Given the description of an element on the screen output the (x, y) to click on. 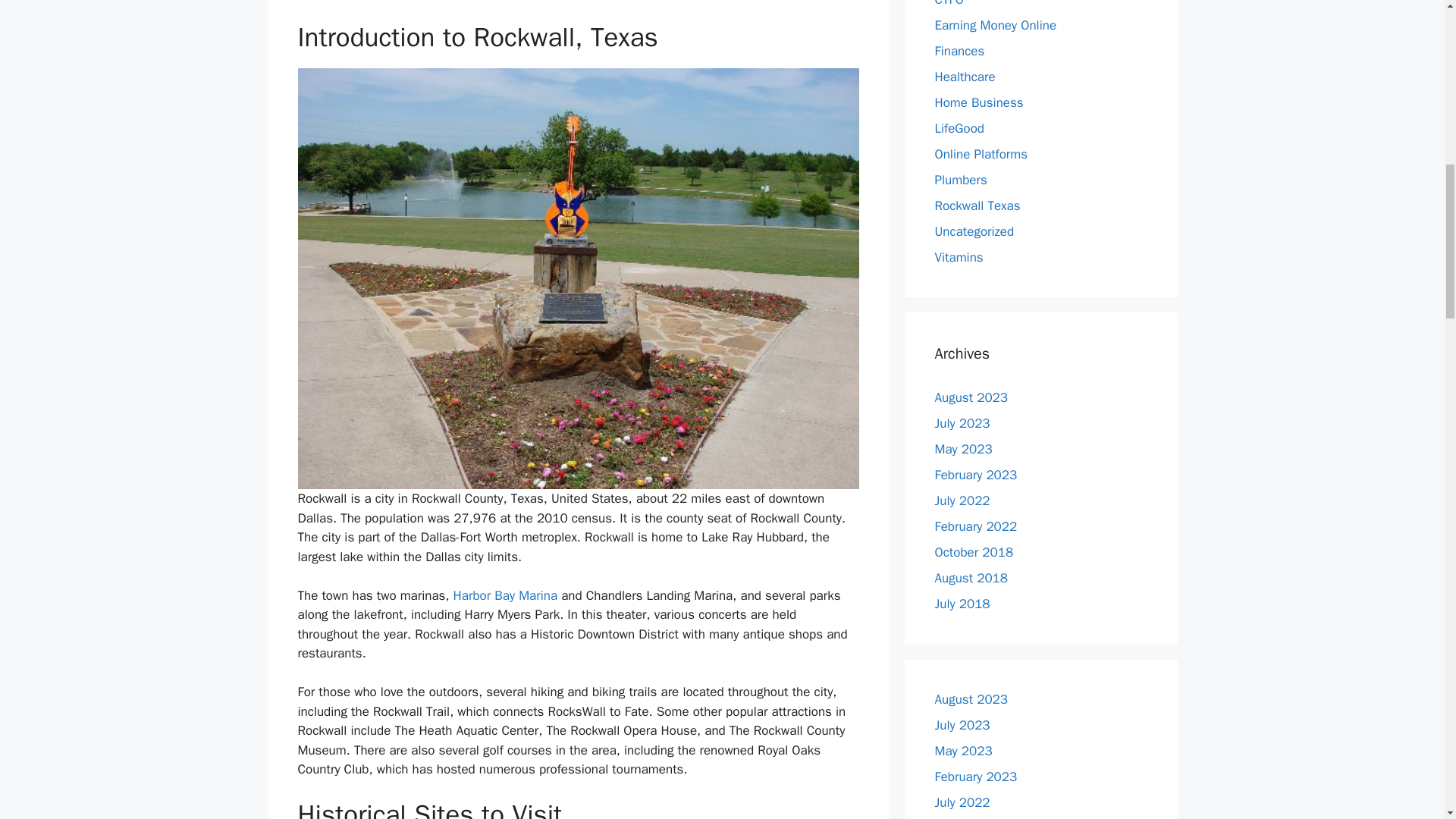
Finances (959, 50)
Home Business (978, 101)
Harbor Bay Marina (504, 595)
Online Platforms (980, 153)
Earning Money Online (995, 24)
LifeGood (959, 127)
Healthcare (964, 75)
CTFO (948, 3)
